Given the description of an element on the screen output the (x, y) to click on. 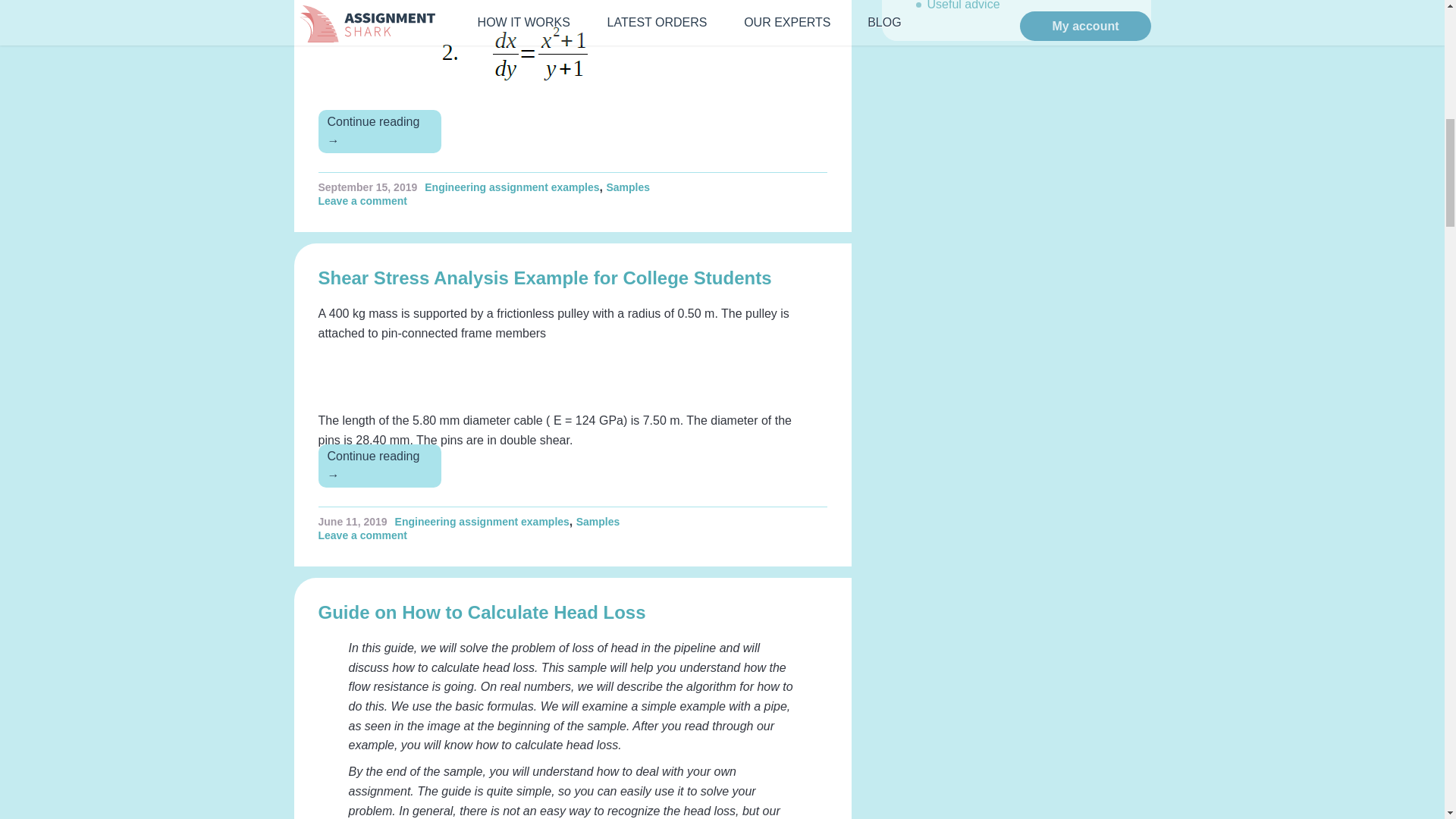
Samples (627, 186)
September 15, 2019 (367, 186)
Guide on How to Calculate Head Loss (482, 611)
Shear Stress Analysis Example for College Students (544, 277)
Leave a comment (366, 535)
Engineering assignment examples (511, 186)
Leave a comment (366, 200)
June 11, 2019 (352, 521)
Engineering assignment examples (481, 521)
Samples (598, 521)
